Given the description of an element on the screen output the (x, y) to click on. 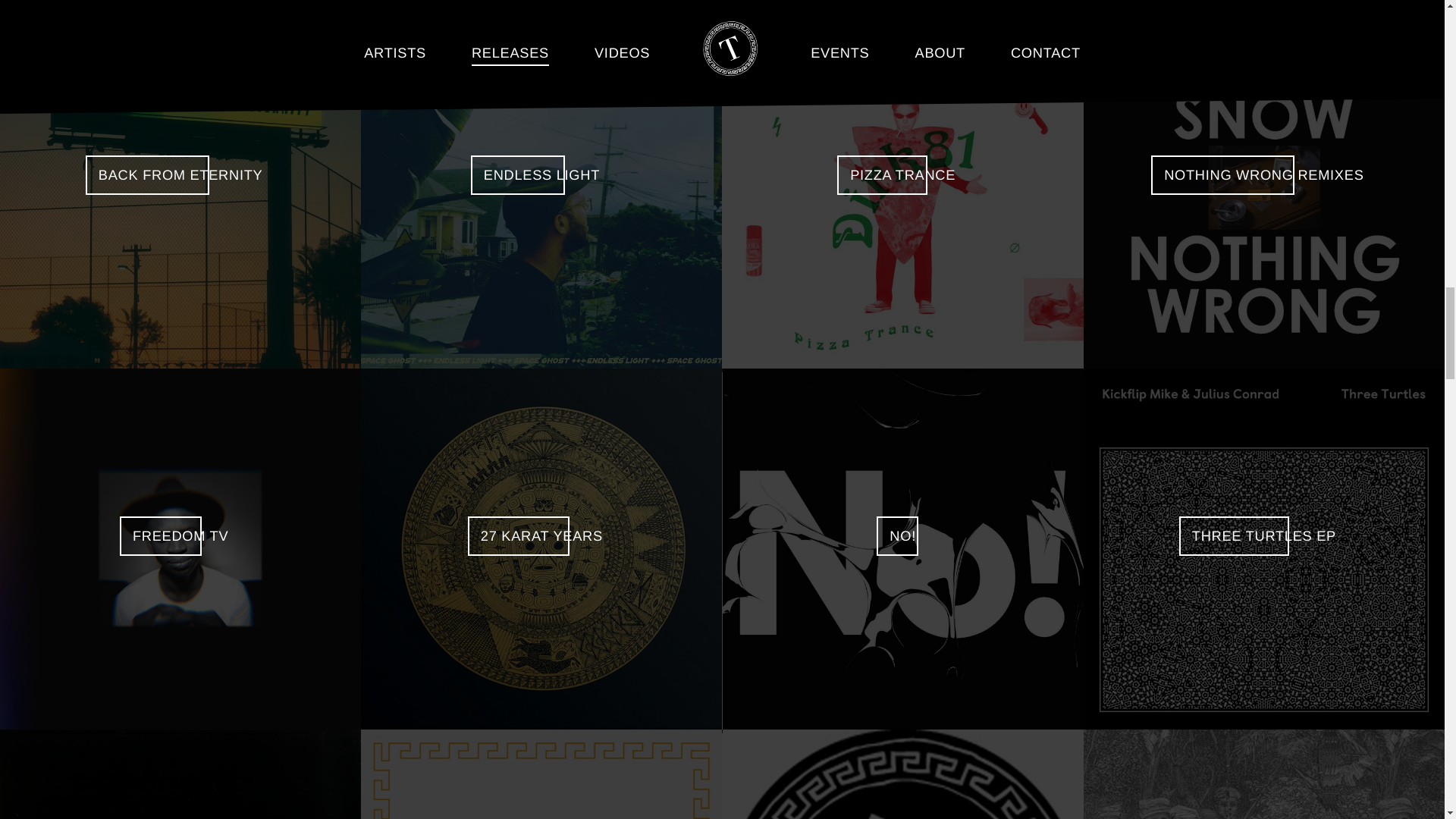
PIZZA TRANCE (902, 187)
HONEYCOMB (180, 3)
BACK FROM ETERNITY (180, 187)
C.I.W. EP (902, 3)
ENDLESS LIGHT (541, 187)
LO SIENTO MUCHO PERO NO HABLO TU IDIOMA (541, 3)
NO! (902, 548)
FREEDOM TV (180, 548)
27 KARAT YEARS (541, 548)
